Given the description of an element on the screen output the (x, y) to click on. 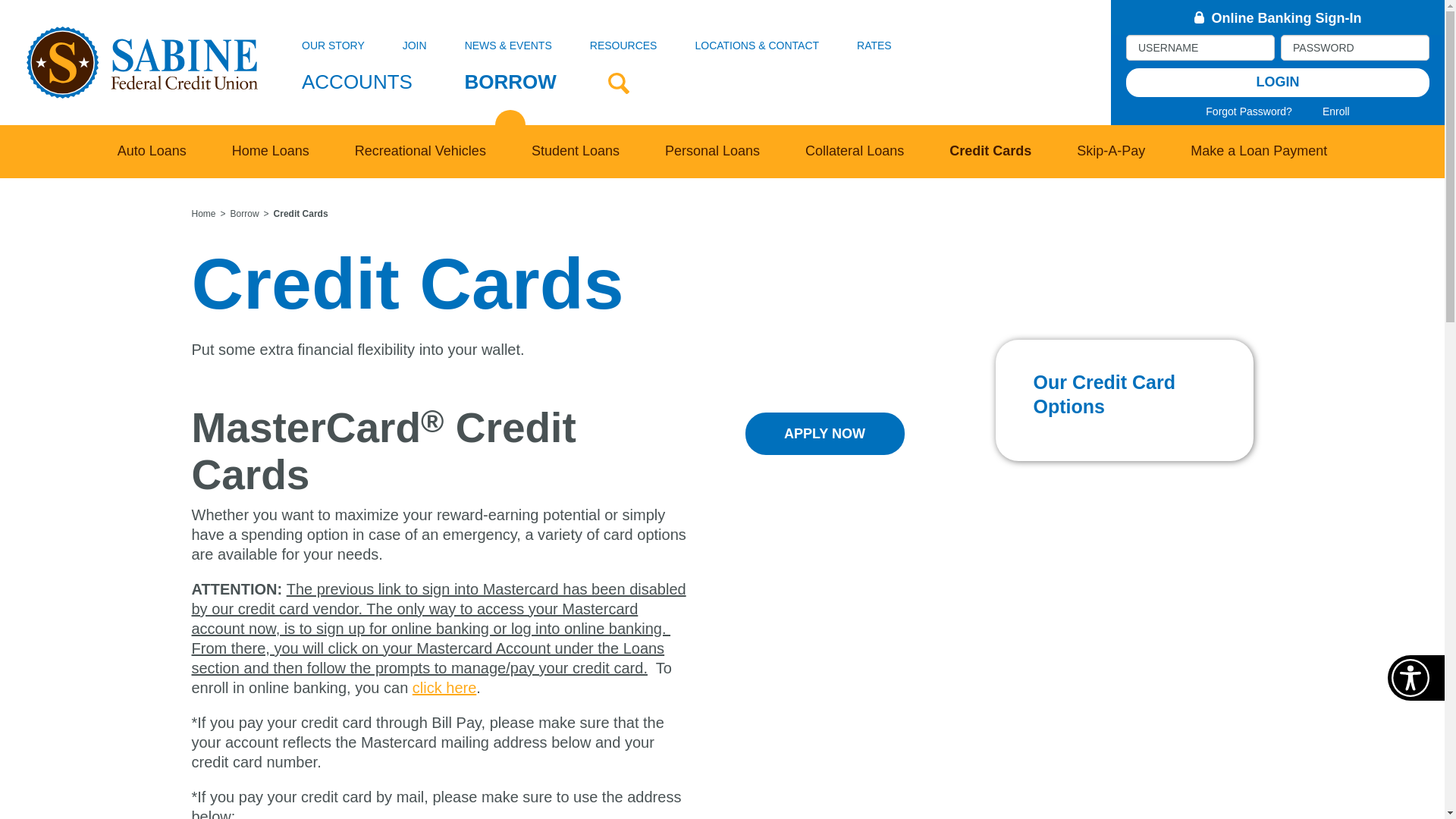
OUR STORY (333, 45)
Click here to enroll in online banking (444, 687)
JOIN (414, 45)
RESOURCES (623, 45)
